Given the description of an element on the screen output the (x, y) to click on. 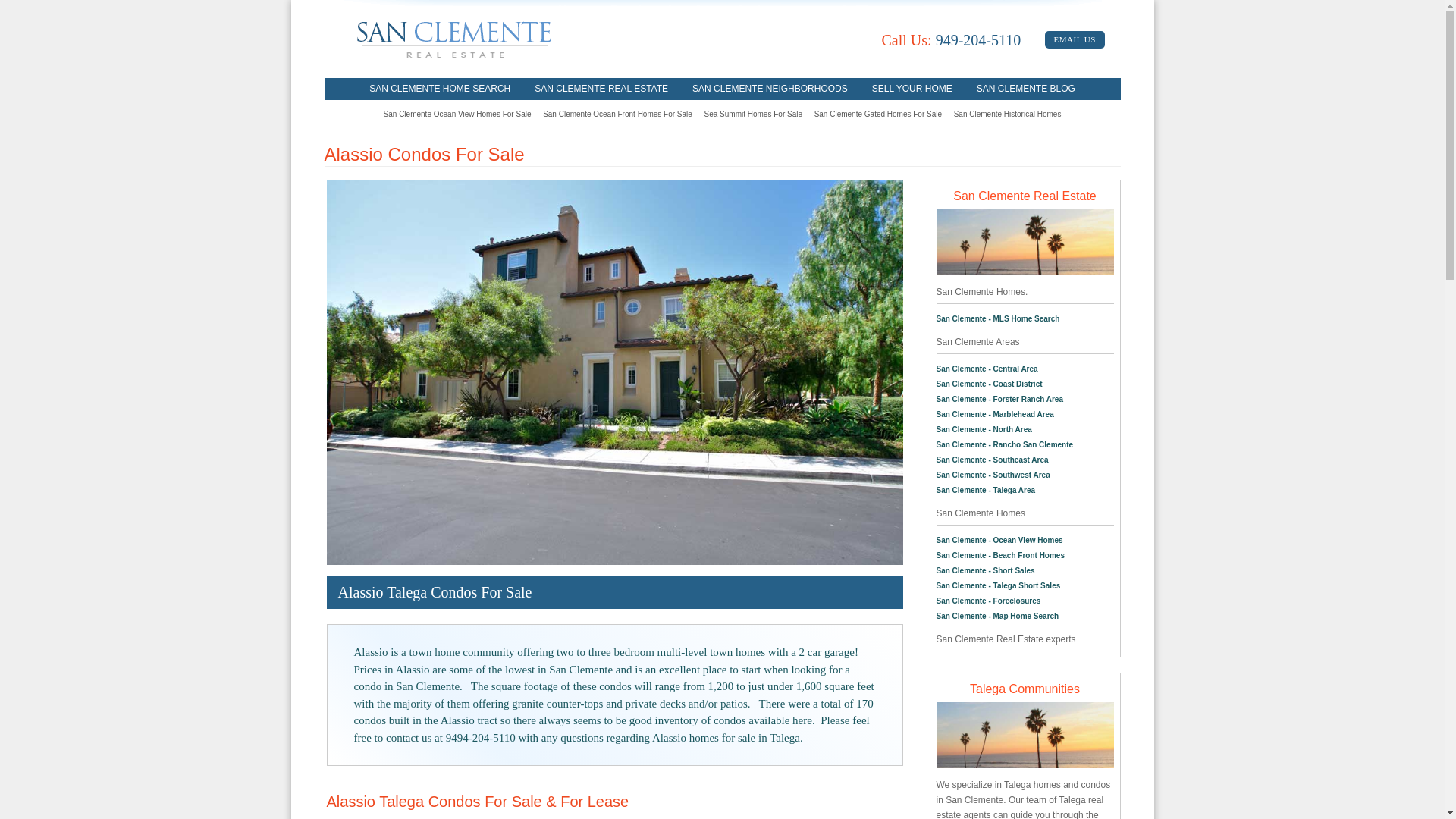
SAN CLEMENTE HOME SEARCH (439, 88)
San Clemente Ocean Front Homes For Sale (617, 113)
SELL YOUR HOME (911, 88)
EMAIL US (1075, 39)
San Clemente Gated Homes For Sale (877, 113)
Sea Summit Homes For Sale (754, 113)
SAN CLEMENTE NEIGHBORHOODS (769, 88)
San Clemente Historical Homes (1007, 113)
San Clemente Ocean View Homes For Sale (456, 113)
SAN CLEMENTE REAL ESTATE (600, 88)
Call Us: 949-204-5110 (950, 40)
SAN CLEMENTE BLOG (1025, 88)
